Given the description of an element on the screen output the (x, y) to click on. 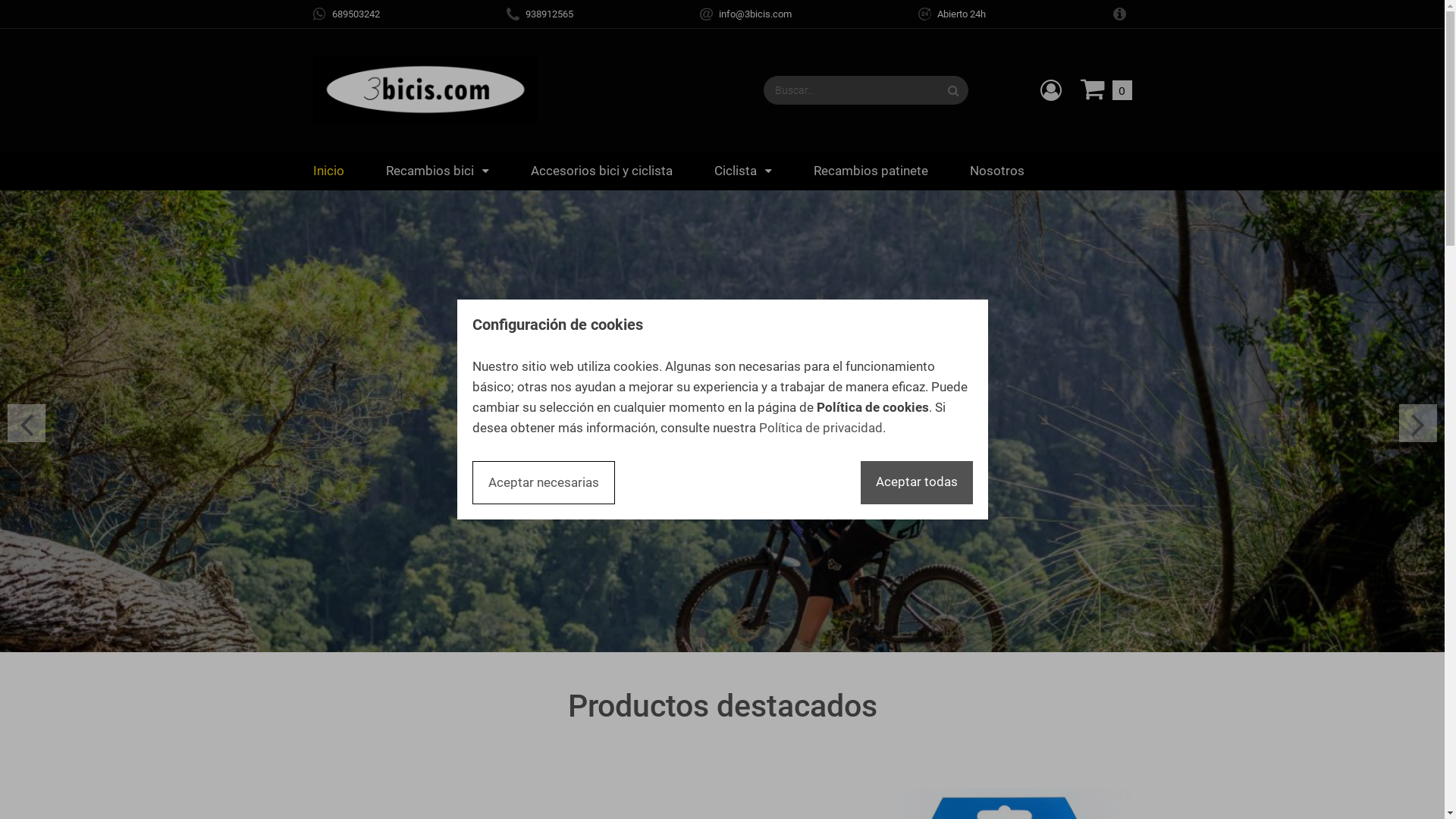
Ciclista Element type: text (742, 170)
Recambios bici Element type: text (436, 170)
Recambios patinete Element type: text (869, 170)
Aceptar necesarias Element type: text (542, 482)
Buscar Element type: text (952, 89)
Aceptar todas Element type: text (915, 482)
3bicis.com - bikes & sports Element type: hover (424, 90)
Inicio Element type: text (327, 170)
Nosotros Element type: text (996, 170)
Accesorios bici y ciclista Element type: text (601, 170)
